Given the description of an element on the screen output the (x, y) to click on. 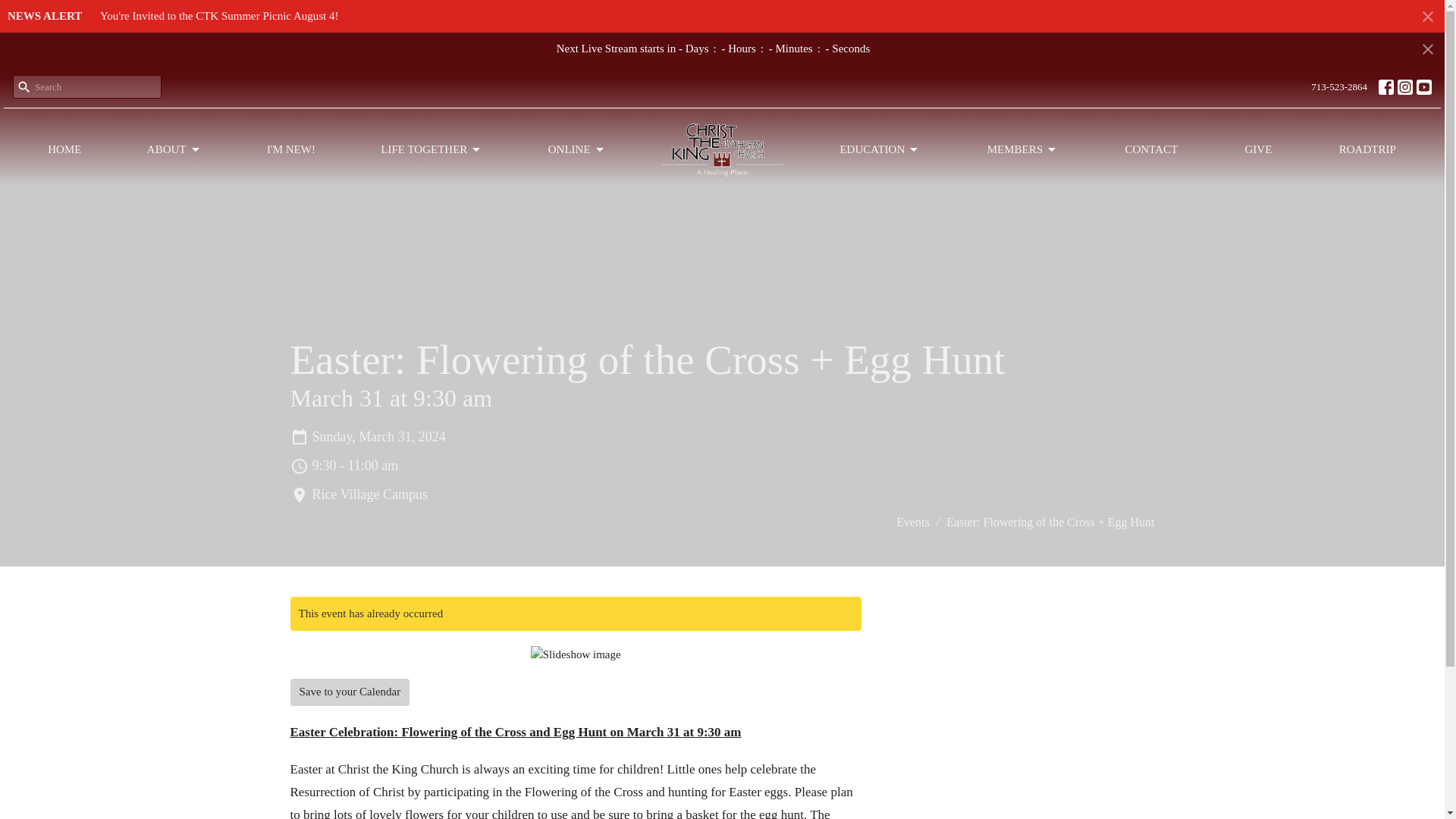
You're Invited to the CTK Summer Picnic August 4! (219, 15)
EDUCATION (880, 149)
ABOUT (174, 149)
HOME (64, 149)
LIFE TOGETHER (430, 149)
I'M NEW! (290, 149)
713-523-2864 (1338, 87)
ONLINE (576, 149)
